Given the description of an element on the screen output the (x, y) to click on. 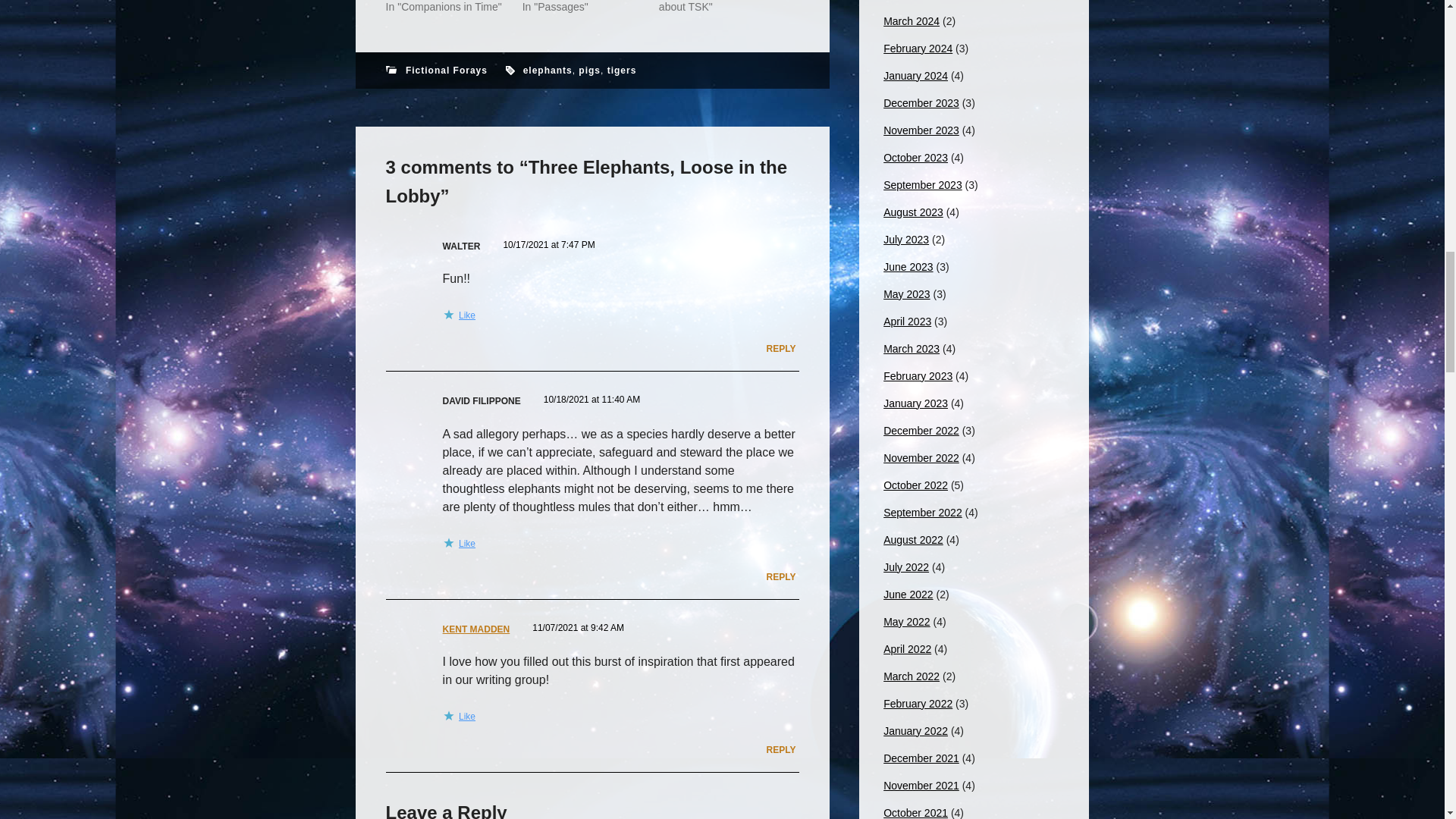
tigers (622, 70)
elephants (547, 70)
Fictional Forays (446, 70)
pigs (588, 70)
